Given the description of an element on the screen output the (x, y) to click on. 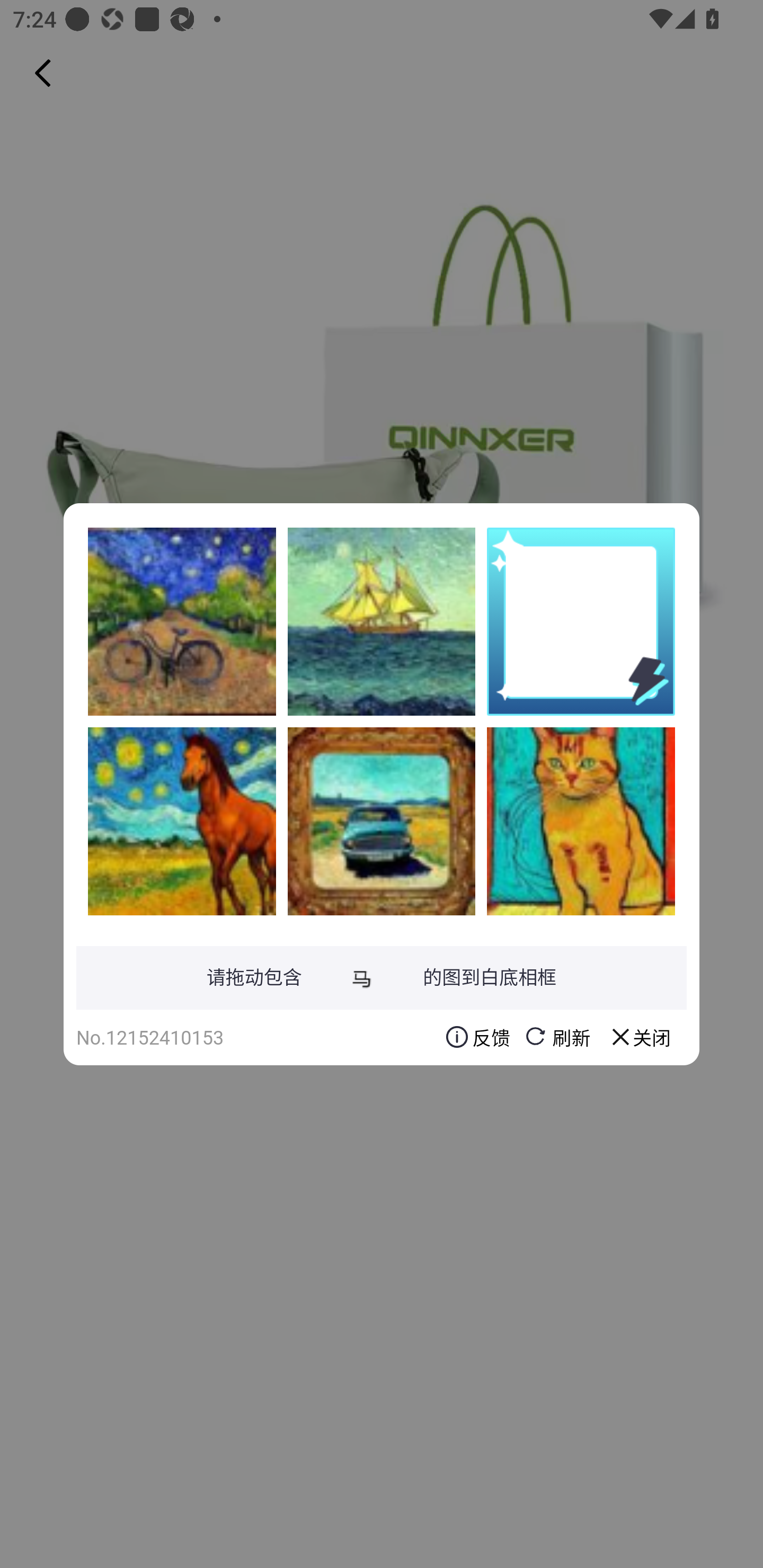
1I+zjGvnGN0ufOrlBn (381, 621)
bCJx4jGX7ksGdbTiiJ0B6U5qNK5QpcZHgxI7BT (181, 820)
